Given the description of an element on the screen output the (x, y) to click on. 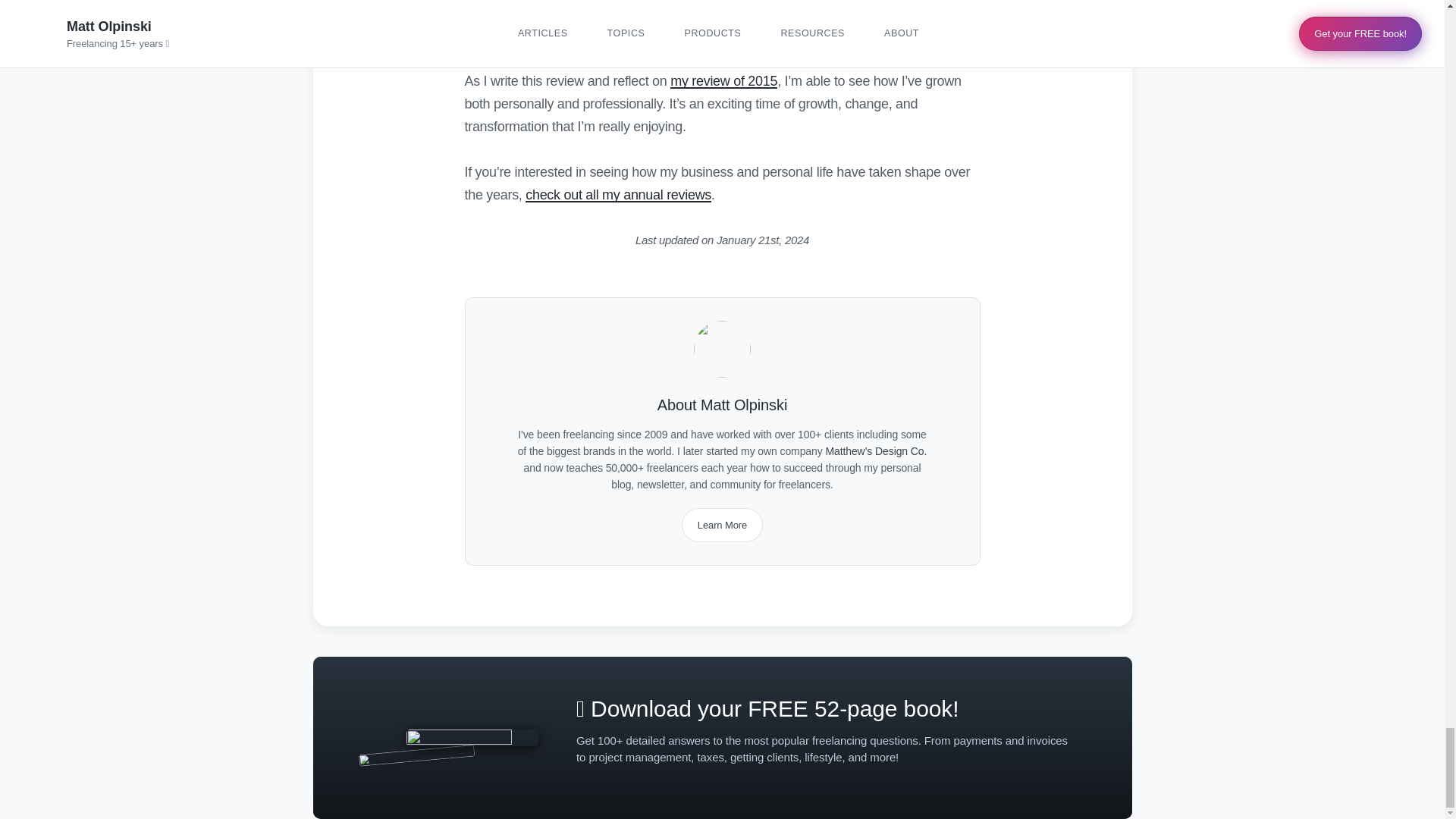
Learn More (721, 524)
my review of 2015 (723, 80)
check out all my annual reviews (618, 194)
